Given the description of an element on the screen output the (x, y) to click on. 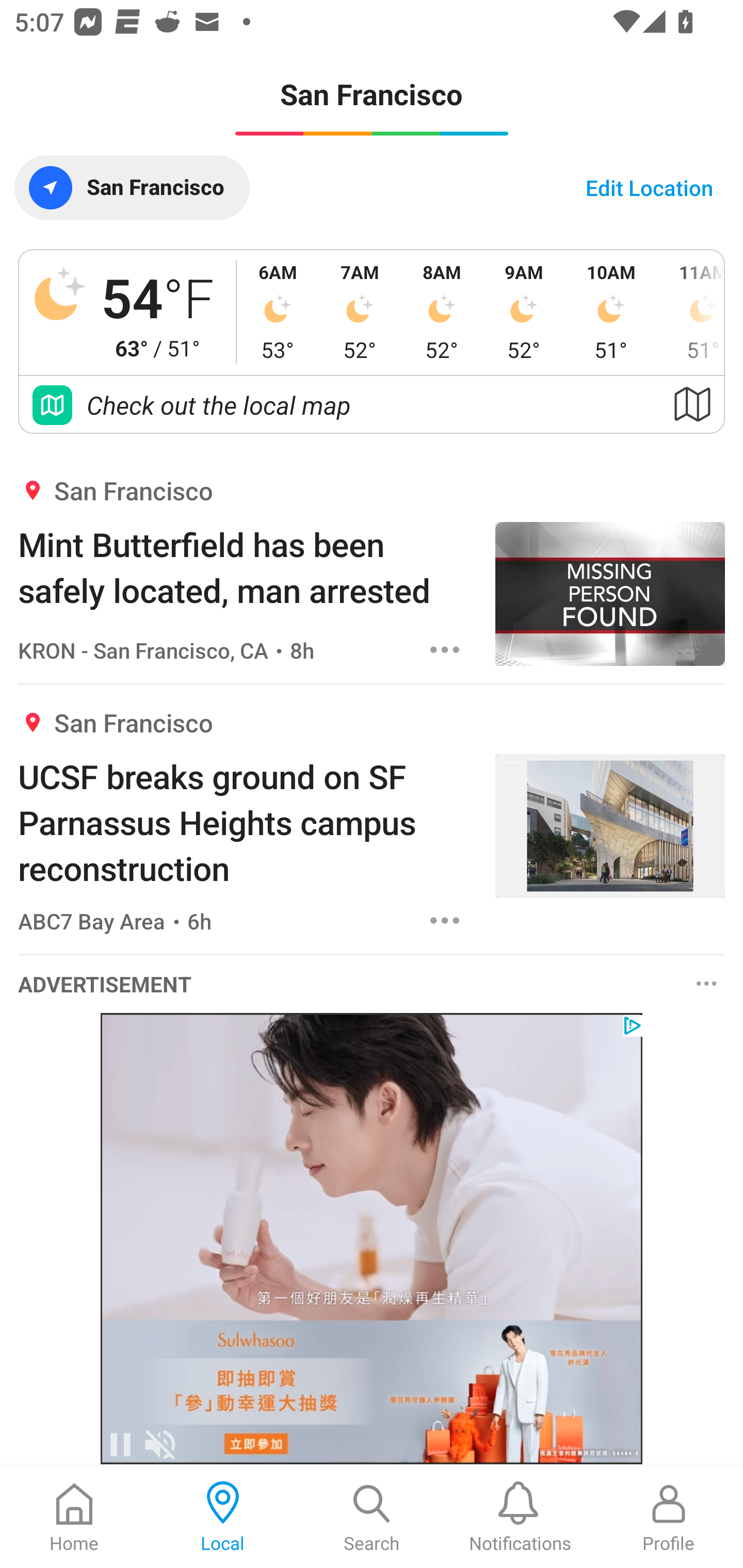
San Francisco (131, 187)
Edit Location (648, 187)
6AM 53° (277, 311)
7AM 52° (359, 311)
8AM 52° (441, 311)
9AM 52° (523, 311)
10AM 51° (610, 311)
11AM 51° (691, 311)
Check out the local map (371, 405)
Options (444, 649)
Options (444, 920)
Options (706, 983)
Home (74, 1517)
Search (371, 1517)
Notifications (519, 1517)
Profile (668, 1517)
